Given the description of an element on the screen output the (x, y) to click on. 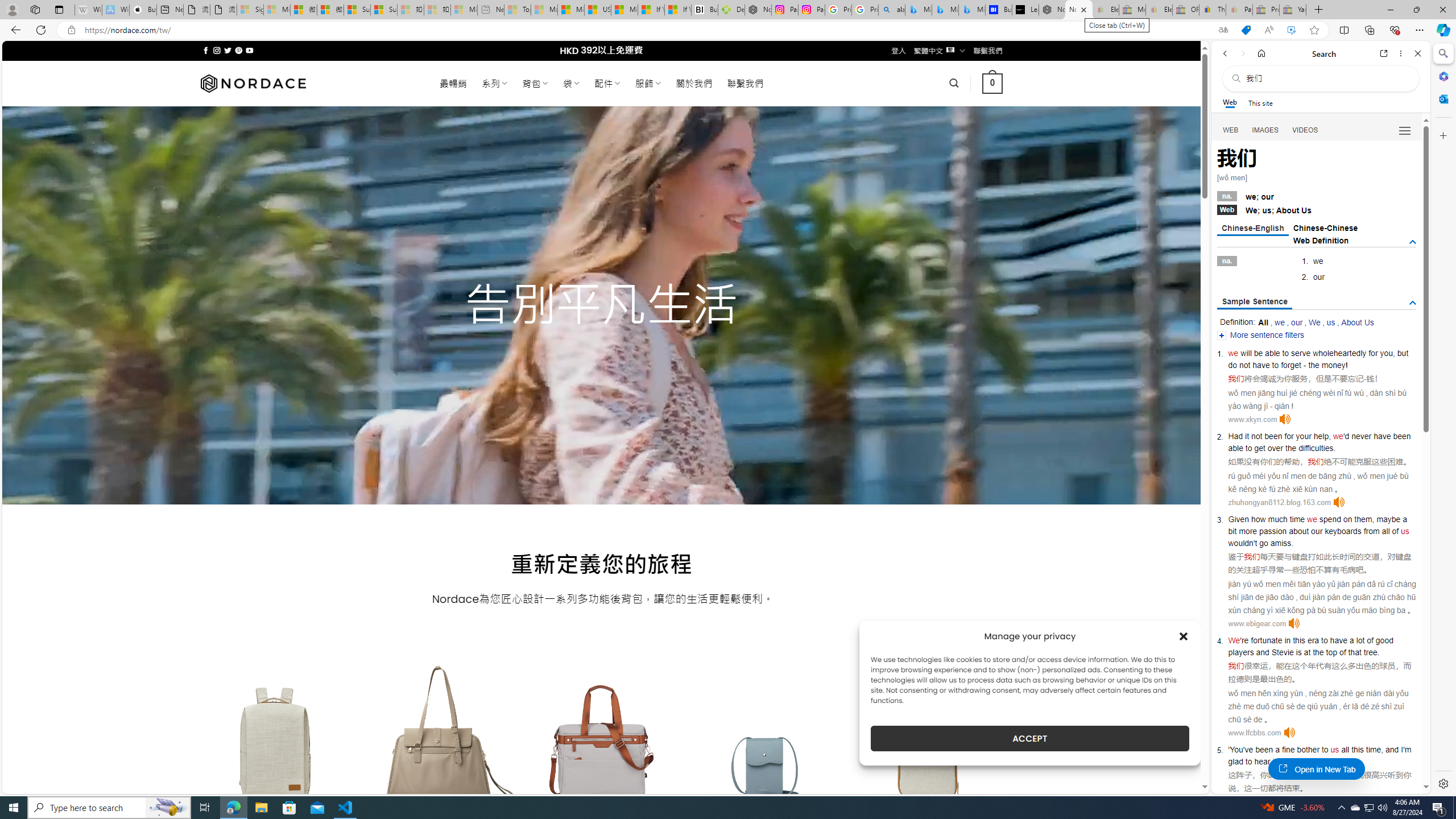
Follow on Facebook (205, 50)
AutomationID: tgdef_sen (1412, 302)
Press Room - eBay Inc. - Sleeping (1265, 9)
on (1347, 519)
